Given the description of an element on the screen output the (x, y) to click on. 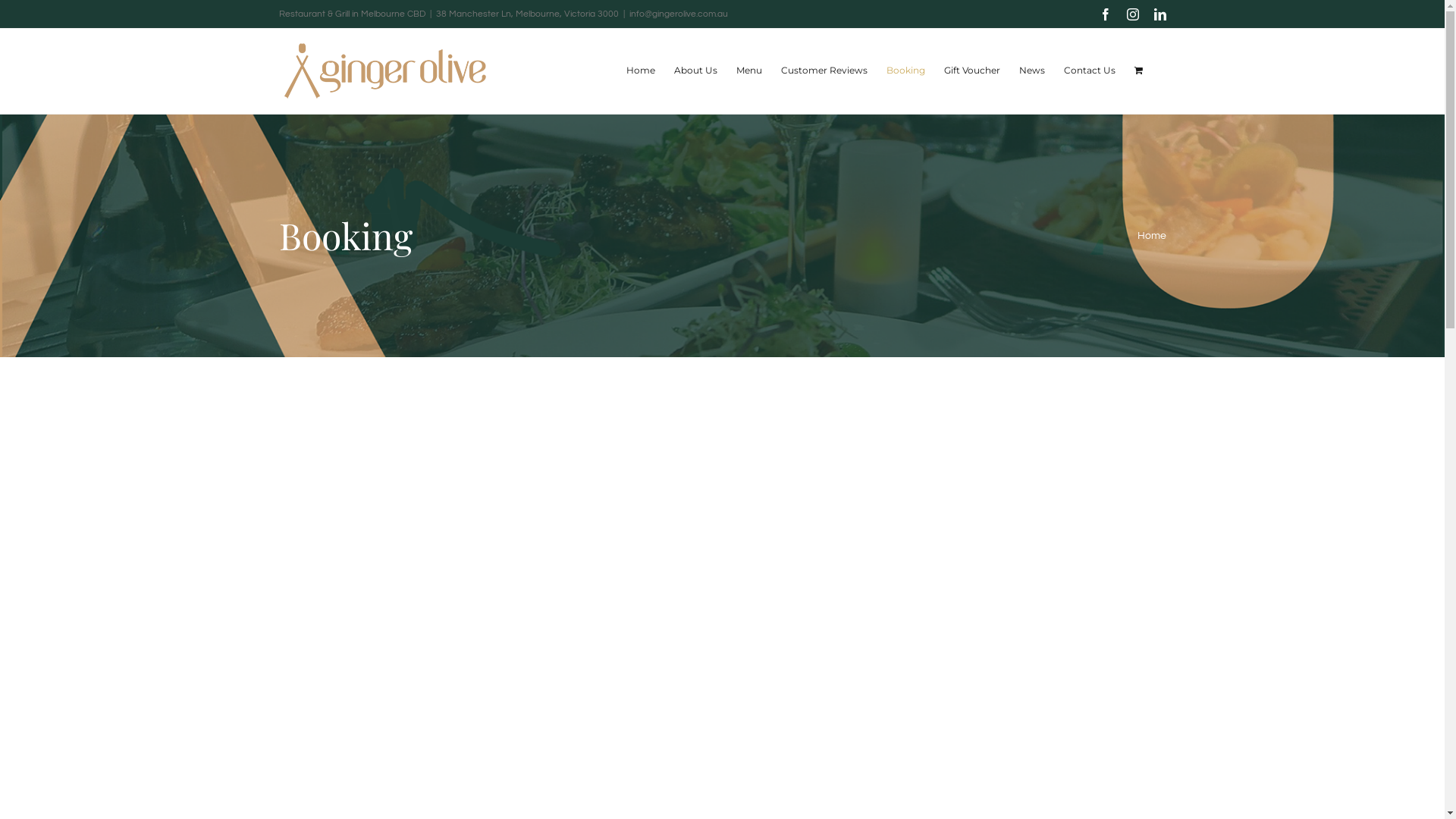
Home Element type: text (1151, 235)
Customer Reviews Element type: text (824, 70)
About Us Element type: text (694, 70)
News Element type: text (1031, 70)
Home Element type: text (640, 70)
LinkedIn Element type: text (1160, 14)
info@gingerolive.com.au Element type: text (678, 13)
Contact Us Element type: text (1088, 70)
Gift Voucher Element type: text (971, 70)
Booking Element type: text (904, 70)
Facebook Element type: text (1105, 14)
Instagram Element type: text (1132, 14)
Menu Element type: text (748, 70)
